Given the description of an element on the screen output the (x, y) to click on. 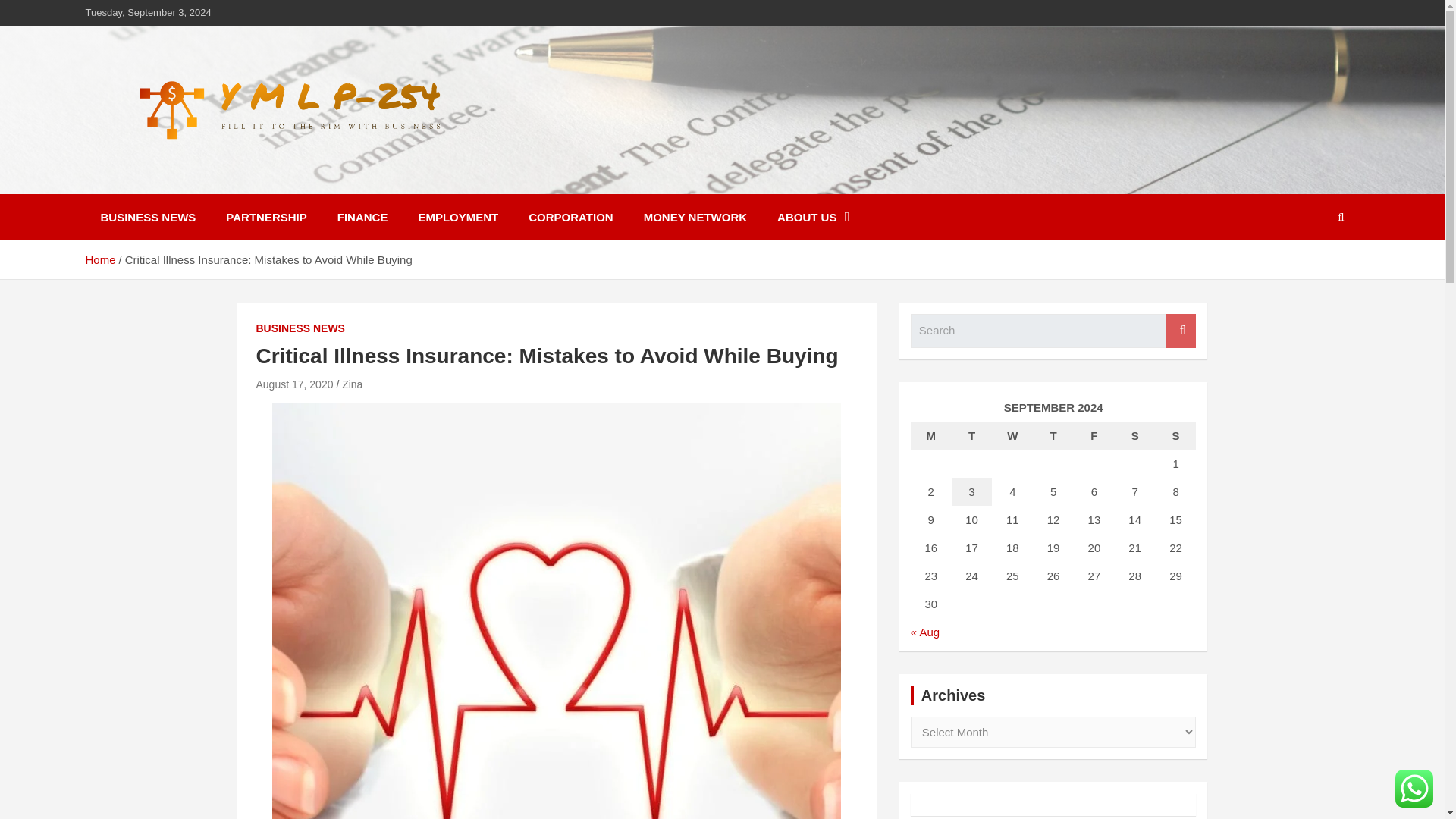
ABOUT US (812, 217)
MONEY NETWORK (694, 217)
Home (99, 259)
August 17, 2020 (294, 384)
Saturday (1135, 435)
BUSINESS NEWS (300, 328)
Y M L P-254 (168, 183)
CORPORATION (570, 217)
Thursday (1053, 435)
FINANCE (362, 217)
